Given the description of an element on the screen output the (x, y) to click on. 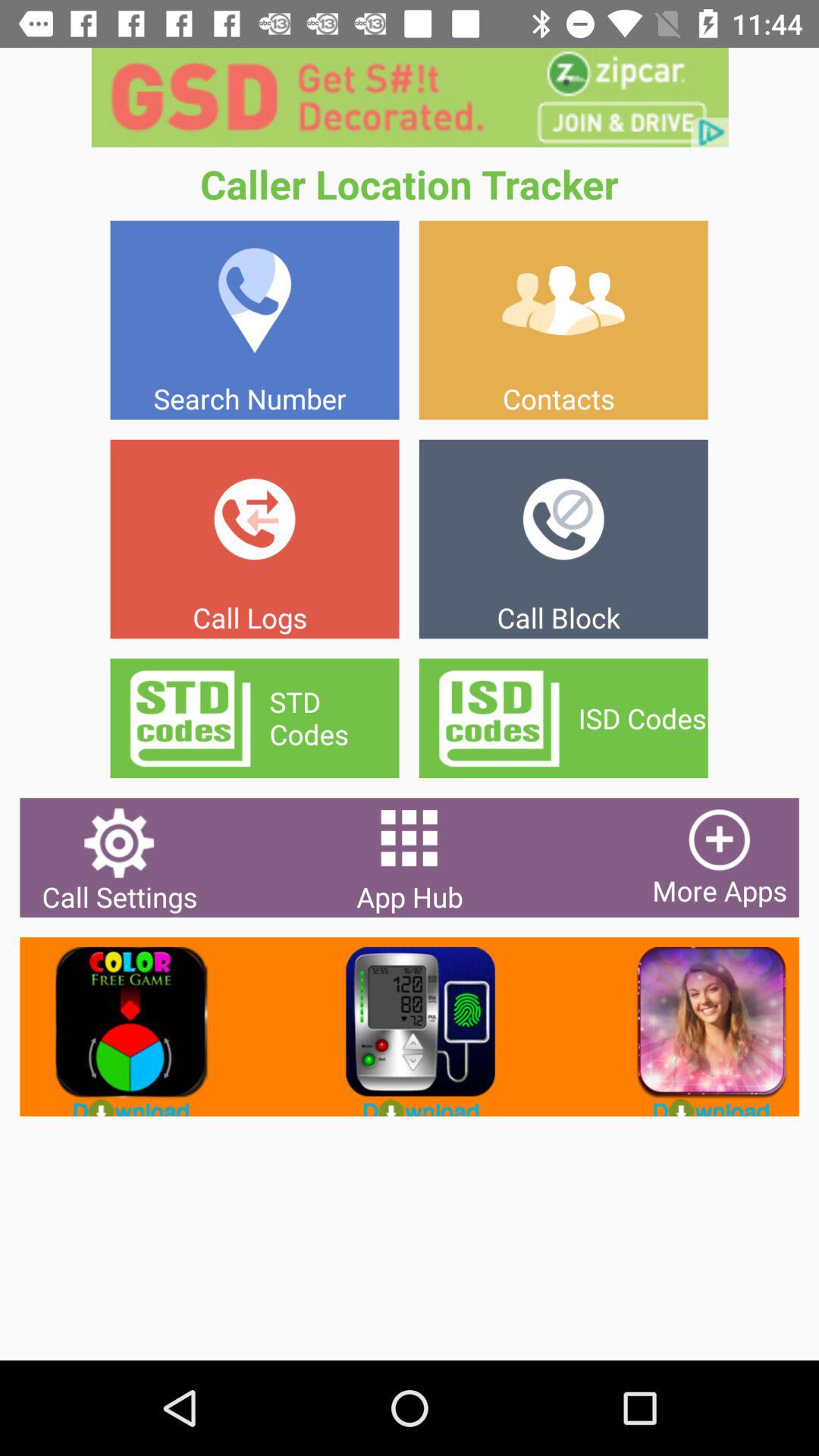
advertisement (409, 97)
